Given the description of an element on the screen output the (x, y) to click on. 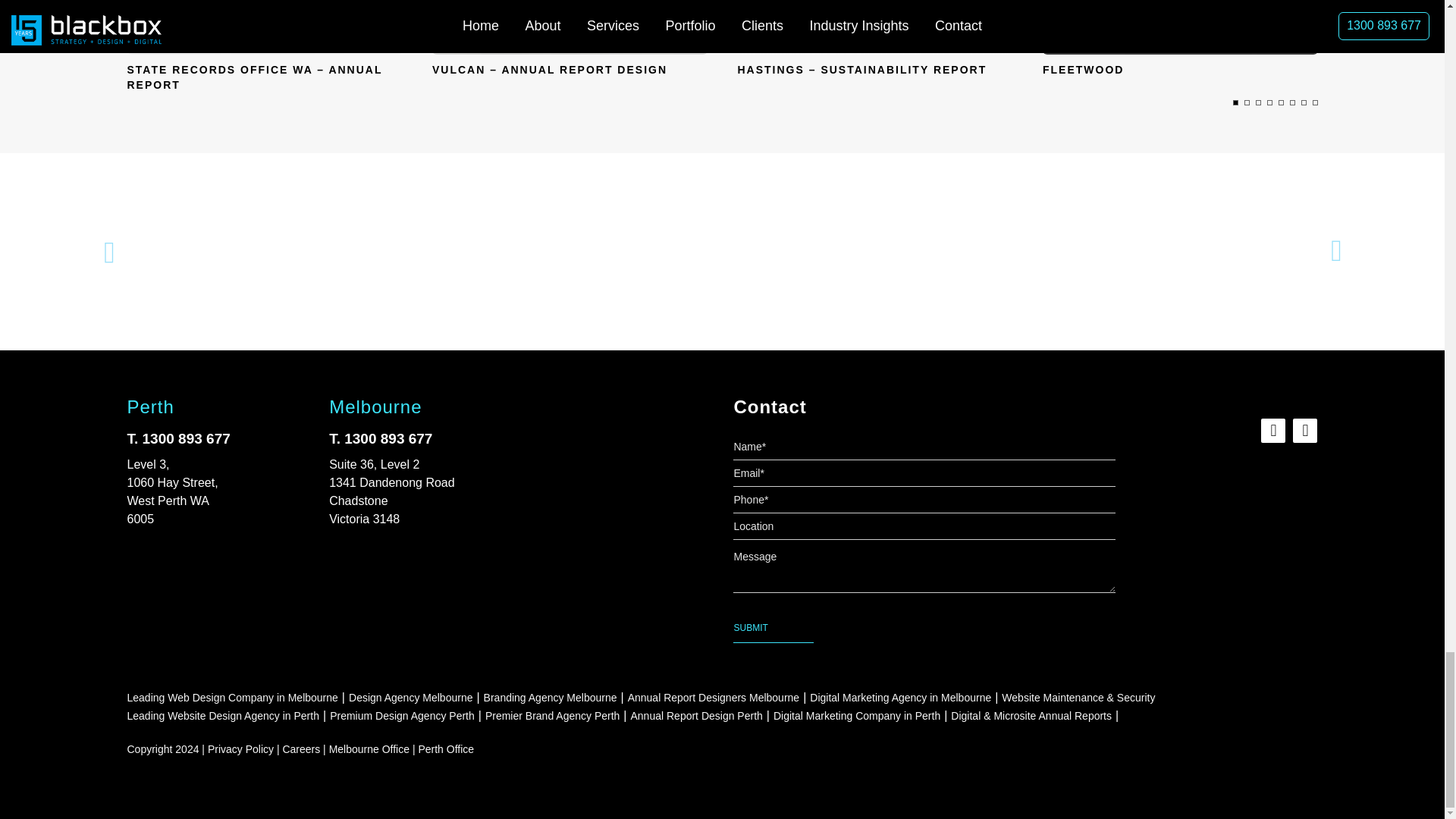
Submit (772, 627)
